Given the description of an element on the screen output the (x, y) to click on. 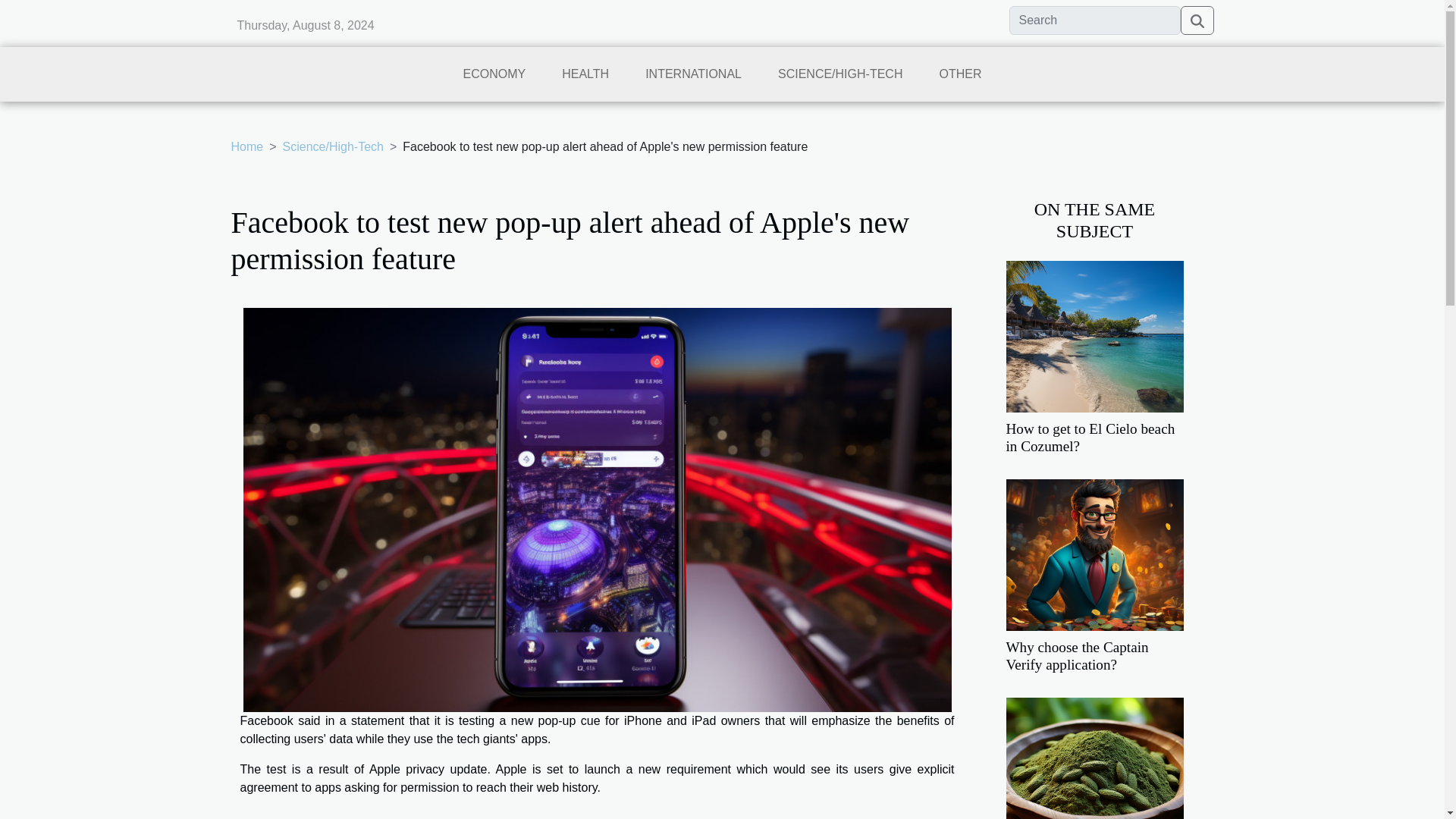
Why choose the Captain Verify application? (1094, 553)
Why choose the Captain Verify application? (1077, 655)
INTERNATIONAL (693, 79)
ECONOMY (494, 79)
Reality About Kratom And Its Uses (1094, 771)
How to get to El Cielo beach in Cozumel? (1090, 437)
HEALTH (585, 79)
Home (246, 146)
OTHER (960, 79)
How to get to El Cielo beach in Cozumel? (1094, 335)
How to get to El Cielo beach in Cozumel? (1090, 437)
Why choose the Captain Verify application? (1077, 655)
